Given the description of an element on the screen output the (x, y) to click on. 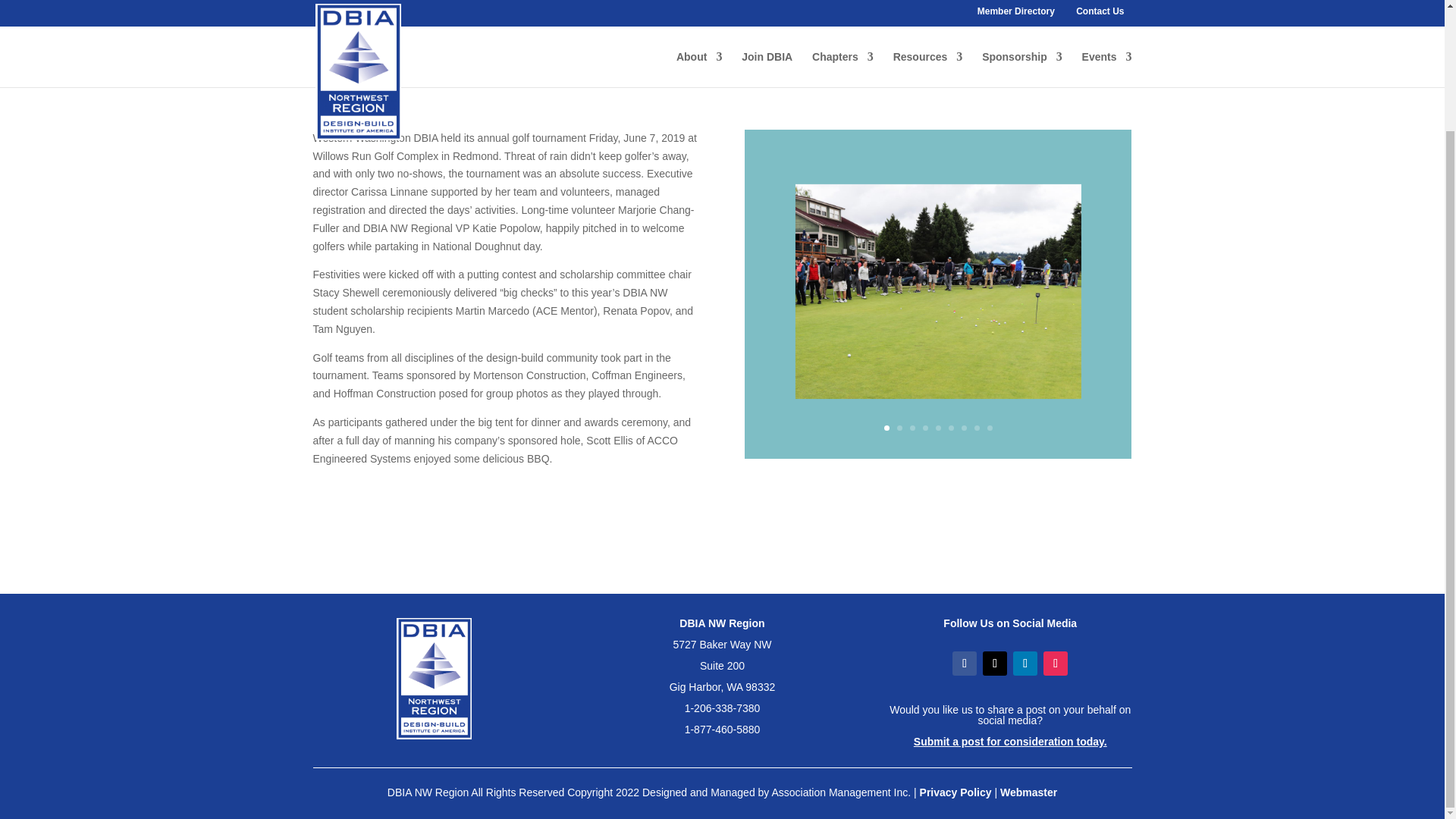
Follow on Instagram (1055, 663)
Follow on Facebook (964, 663)
Posts by DBIA NW Region (366, 42)
Follow on LinkedIn (1024, 663)
Follow on X (994, 663)
